Given the description of an element on the screen output the (x, y) to click on. 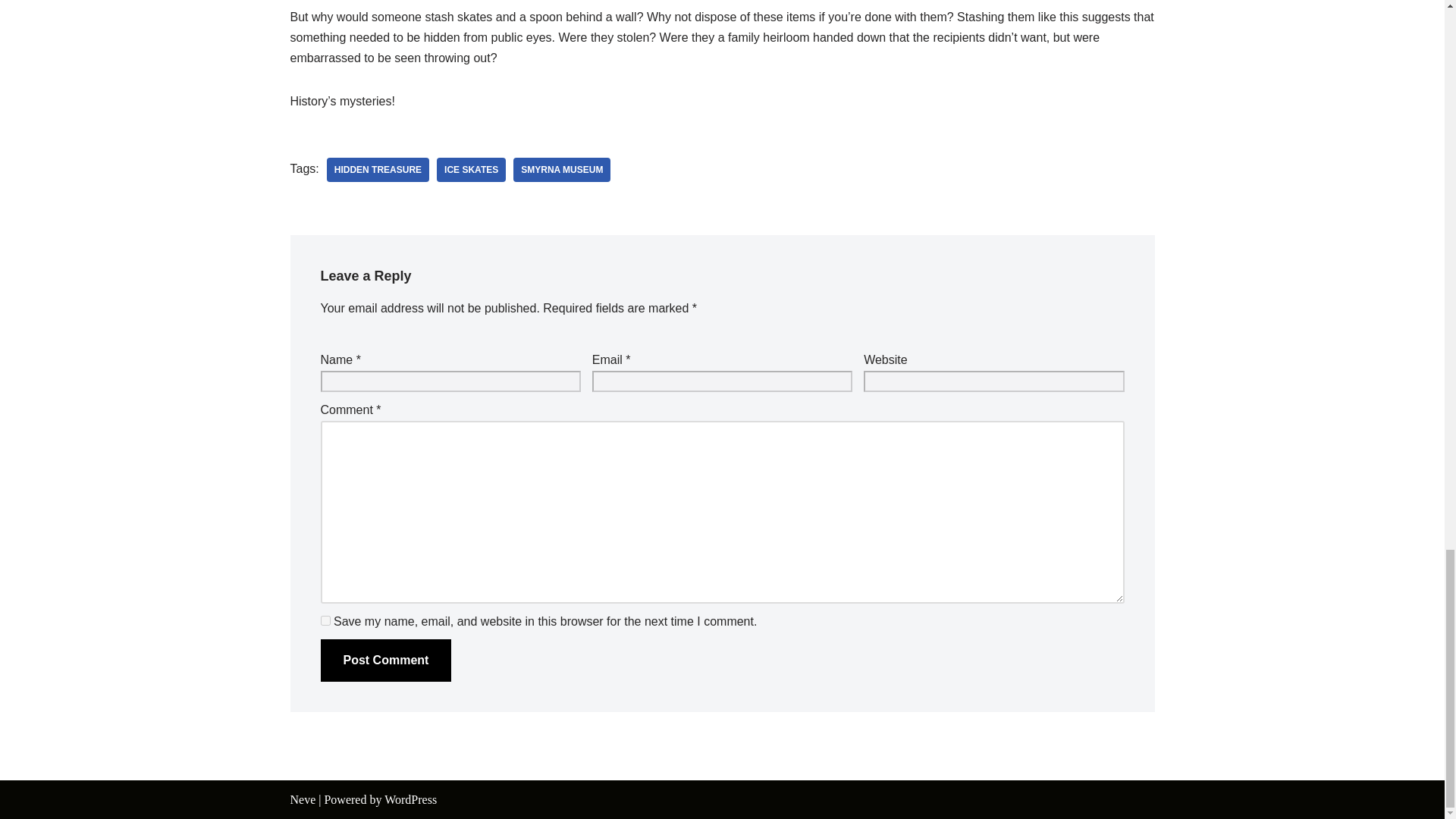
Neve (302, 799)
yes (325, 620)
HIDDEN TREASURE (377, 169)
WordPress (410, 799)
ice skates (470, 169)
hidden treasure (377, 169)
Smyrna Museum (561, 169)
Post Comment (385, 660)
SMYRNA MUSEUM (561, 169)
ICE SKATES (470, 169)
